Given the description of an element on the screen output the (x, y) to click on. 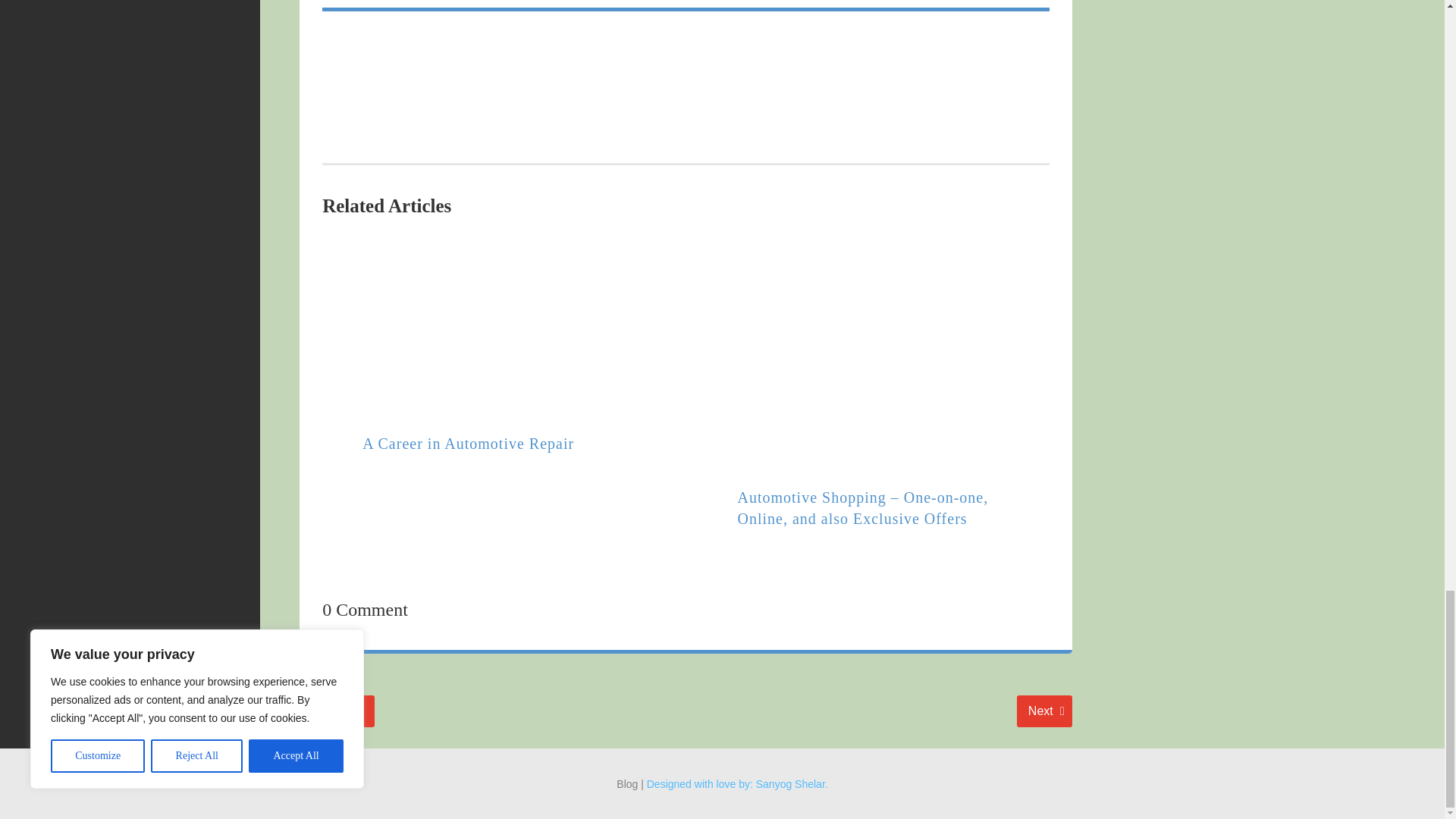
A Career in Automotive Repair (1043, 711)
